Given the description of an element on the screen output the (x, y) to click on. 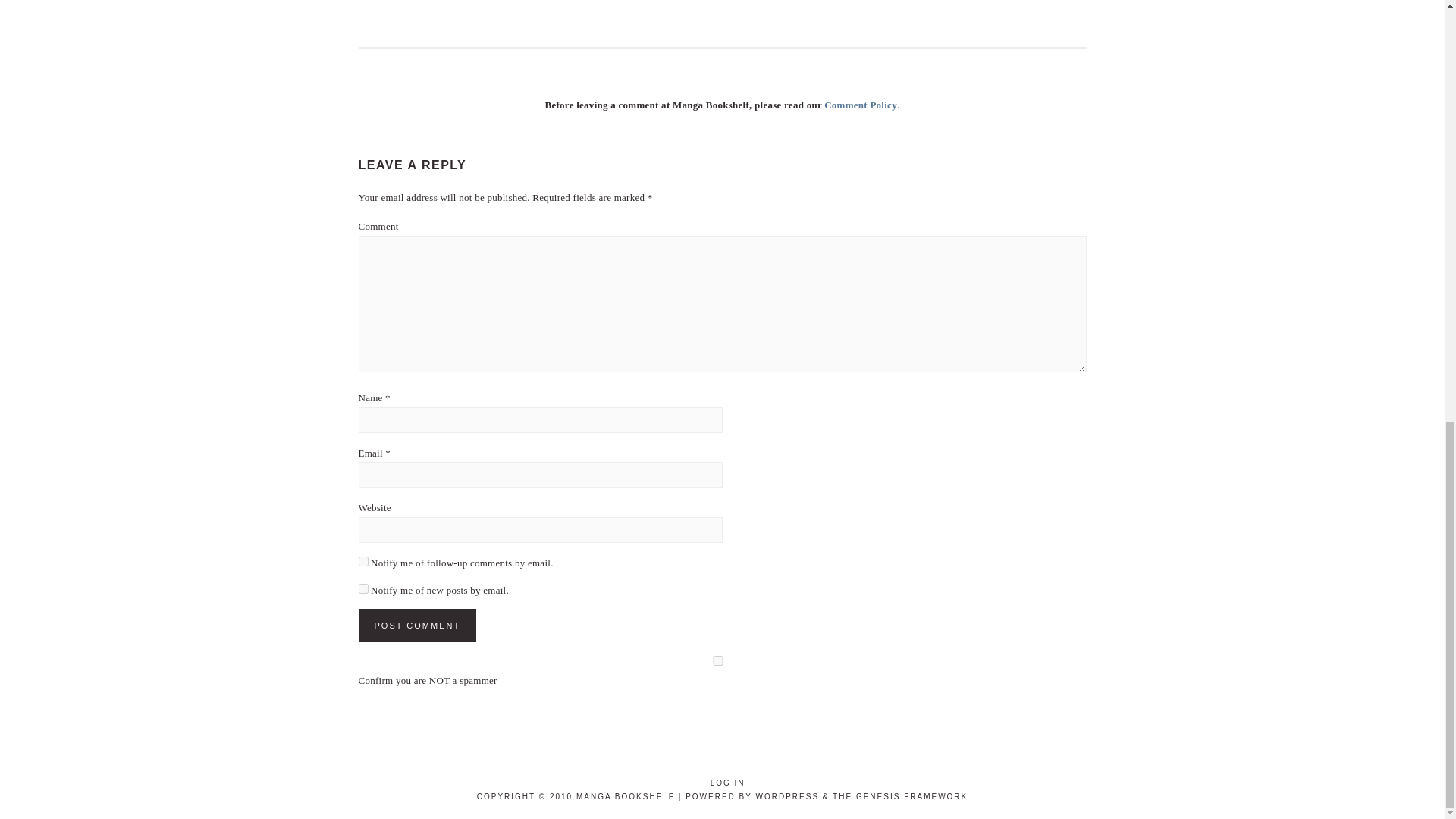
subscribe (363, 561)
Post Comment (417, 625)
on (717, 660)
subscribe (363, 588)
